Given the description of an element on the screen output the (x, y) to click on. 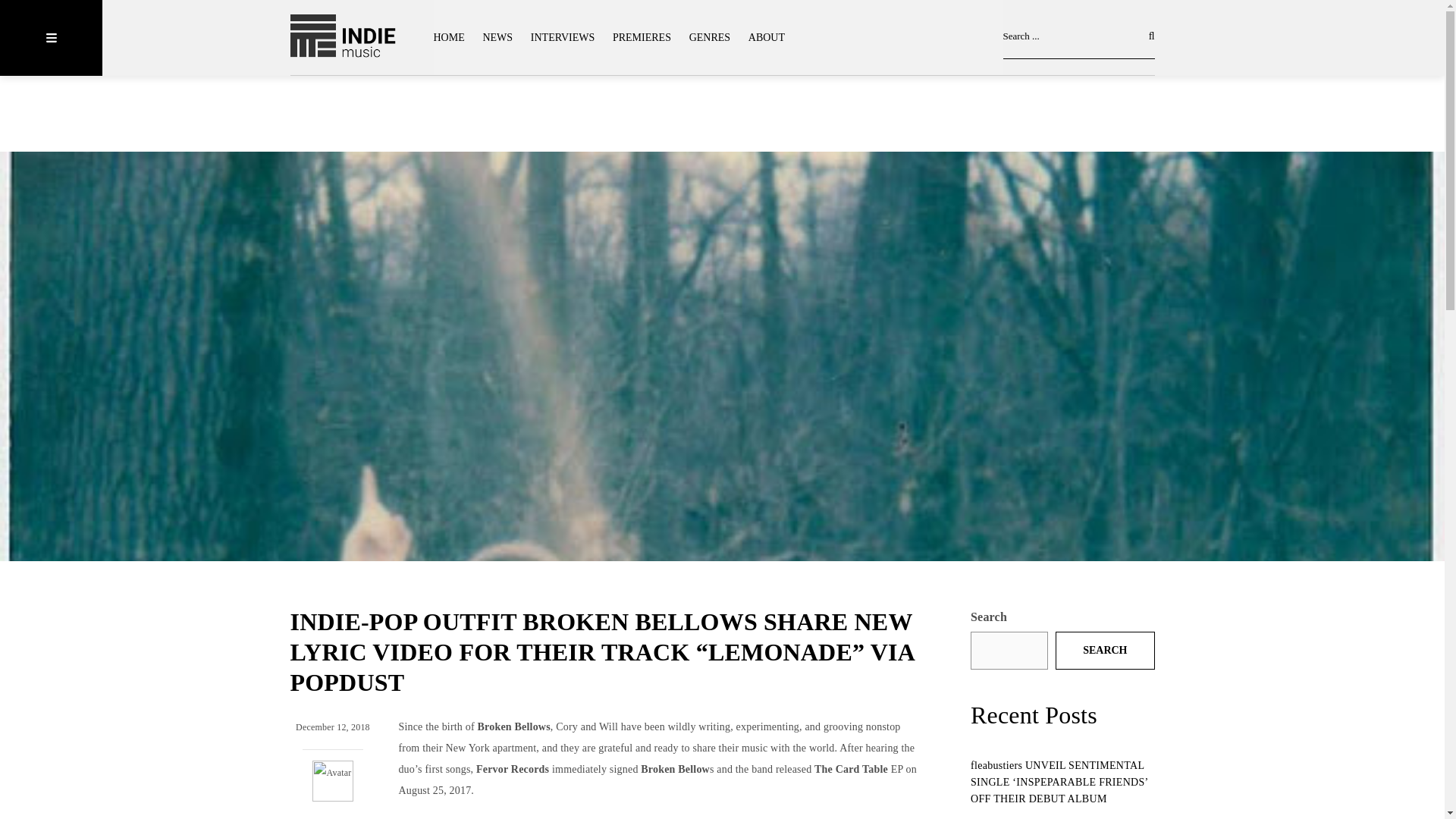
INTERVIEWS (562, 37)
GENRES (709, 37)
HOME (452, 37)
PREMIERES (641, 37)
NEWS (496, 37)
ABOUT (766, 37)
